Given the description of an element on the screen output the (x, y) to click on. 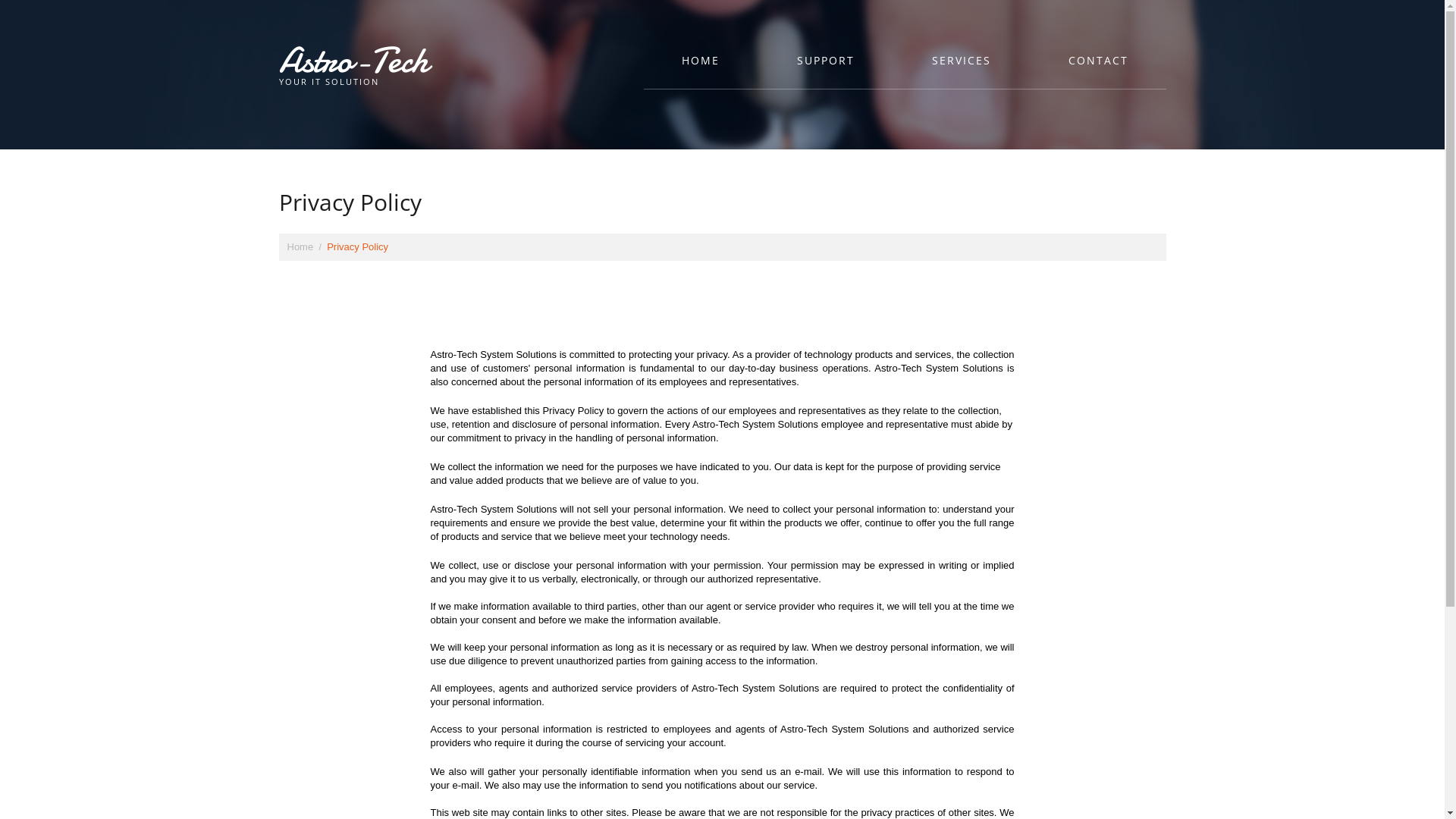
Home Element type: text (299, 246)
SERVICES Element type: text (960, 67)
SUPPORT Element type: text (824, 67)
HOME Element type: text (699, 67)
Astro-Tech Element type: text (353, 59)
CONTACT Element type: text (1097, 67)
